Given the description of an element on the screen output the (x, y) to click on. 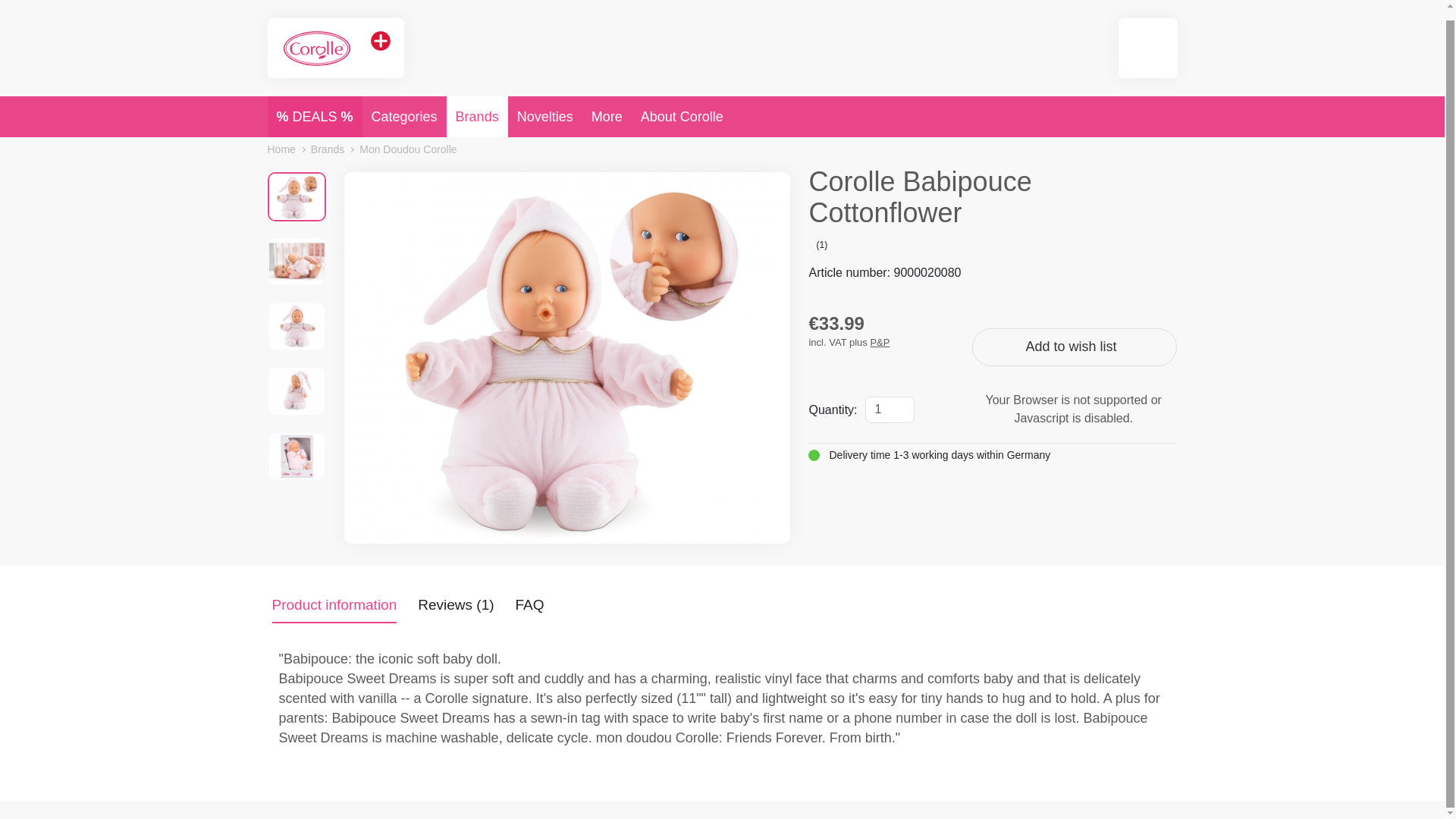
DEALS (313, 106)
Categories (404, 106)
DEALS (313, 106)
Novelties (545, 106)
More (606, 106)
Brands (477, 106)
Login (1147, 37)
Categories (404, 106)
